Given the description of an element on the screen output the (x, y) to click on. 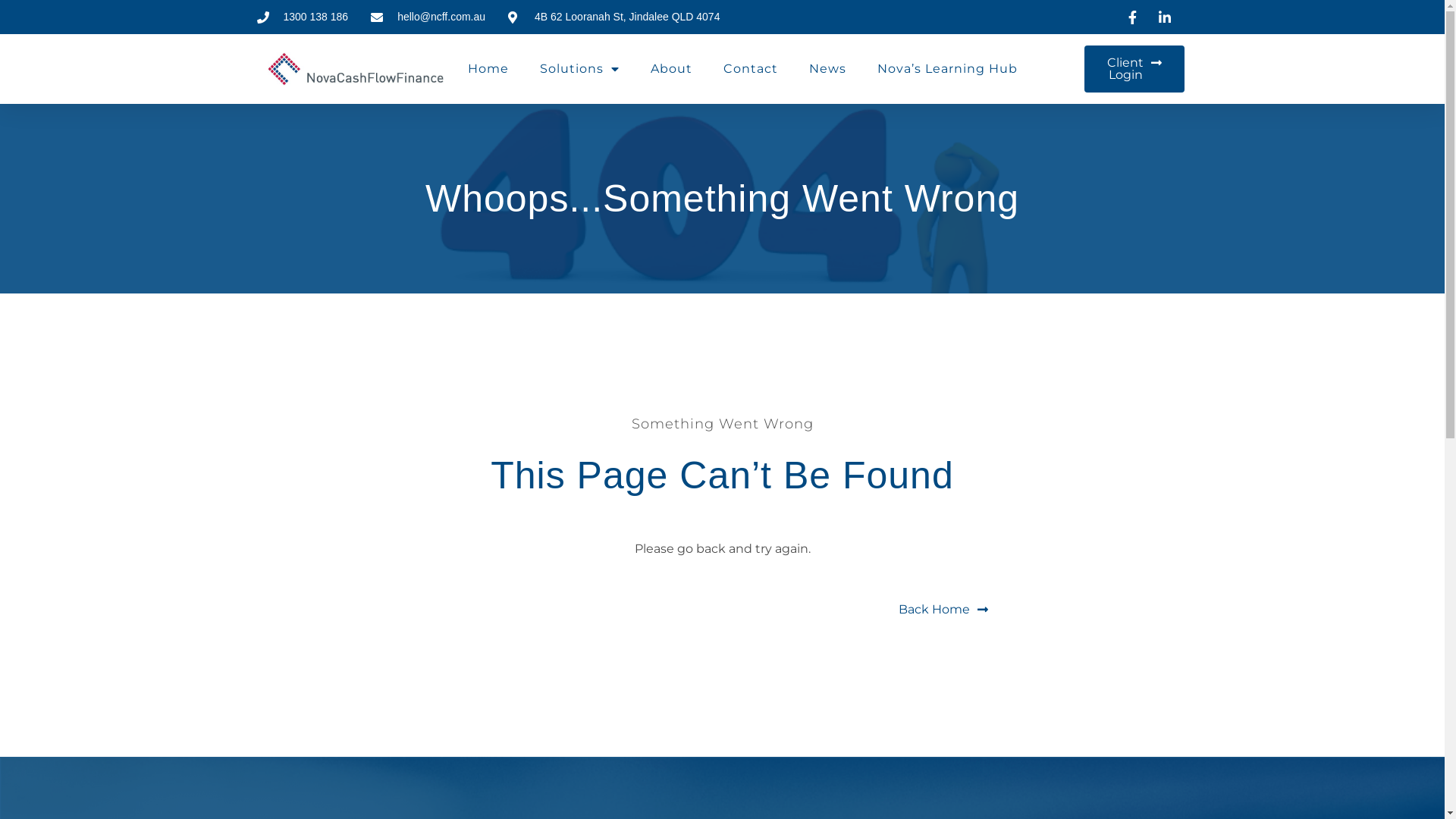
hello@ncff.com.au Element type: text (427, 17)
1300 138 186 Element type: text (302, 17)
Client Login Element type: text (1134, 68)
Contact Element type: text (750, 68)
Home Element type: text (487, 68)
Solutions Element type: text (579, 68)
Back Home Element type: text (942, 609)
About Element type: text (671, 68)
News Element type: text (827, 68)
